Given the description of an element on the screen output the (x, y) to click on. 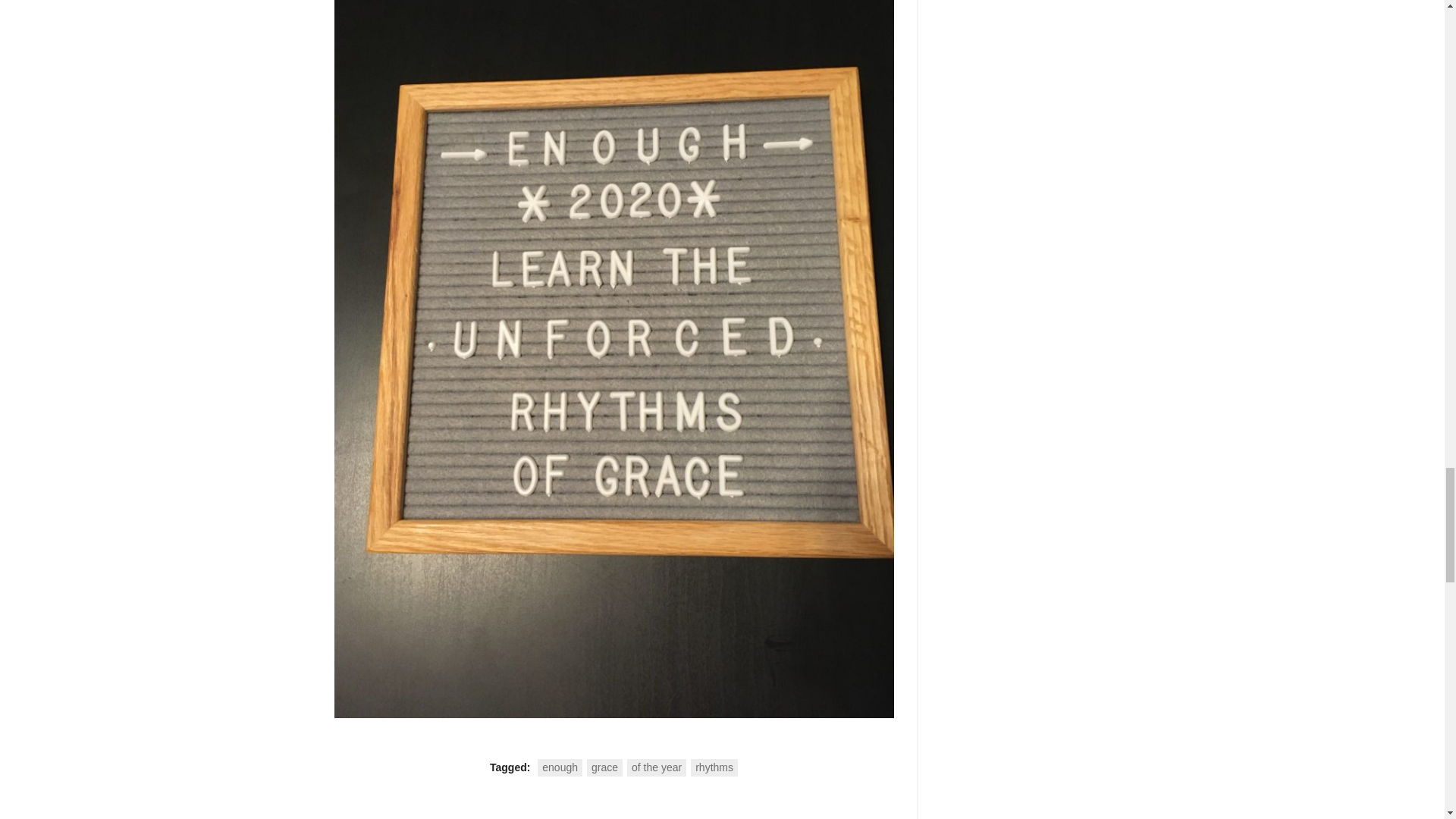
enough (559, 767)
rhythms (714, 767)
of the year (656, 767)
grace (604, 767)
